Given the description of an element on the screen output the (x, y) to click on. 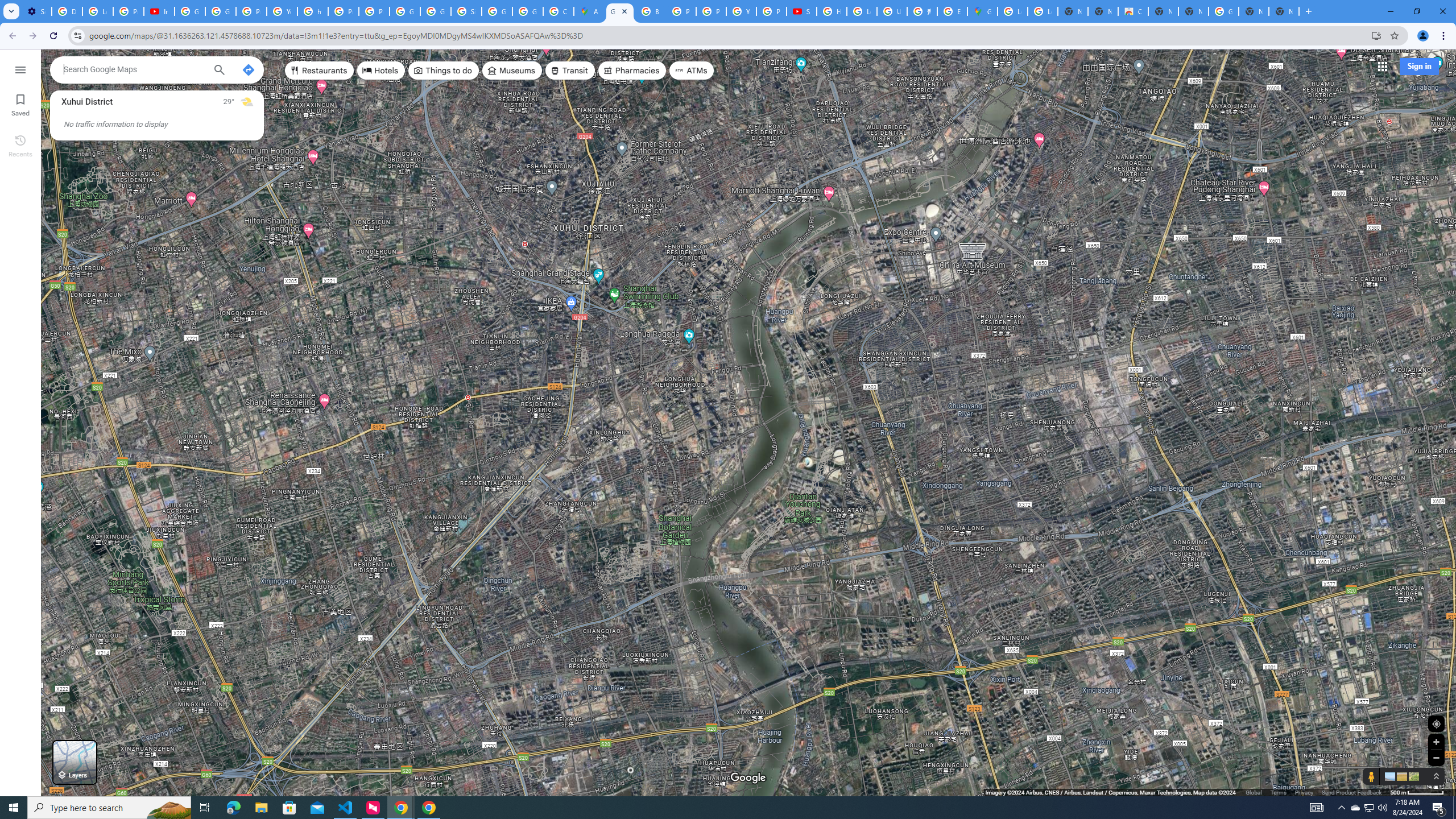
Pharmacies (632, 70)
Layers (74, 762)
Show imagery (1412, 776)
How Chrome protects your passwords - Google Chrome Help (830, 11)
